Given the description of an element on the screen output the (x, y) to click on. 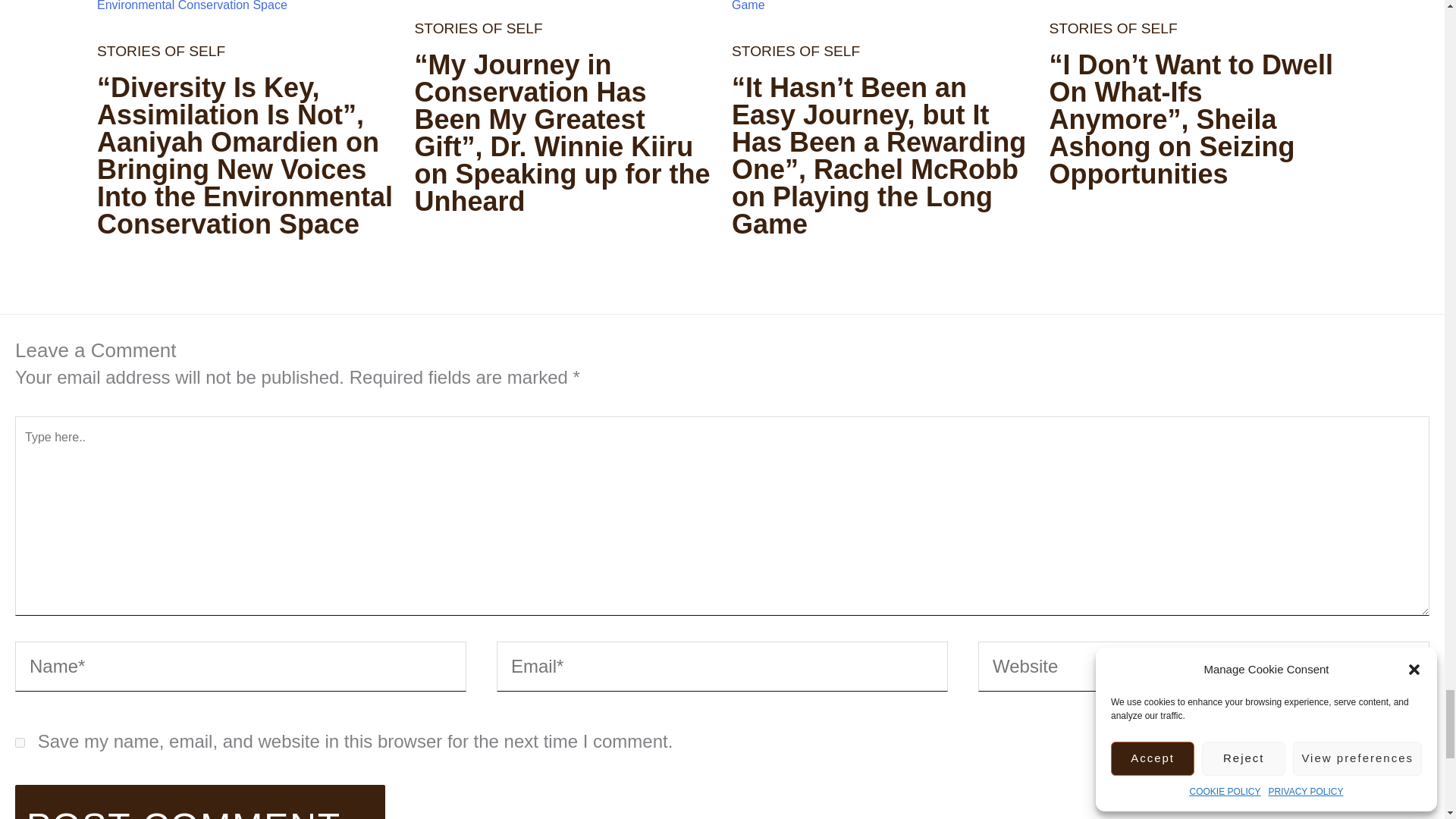
yes (19, 742)
